Given the description of an element on the screen output the (x, y) to click on. 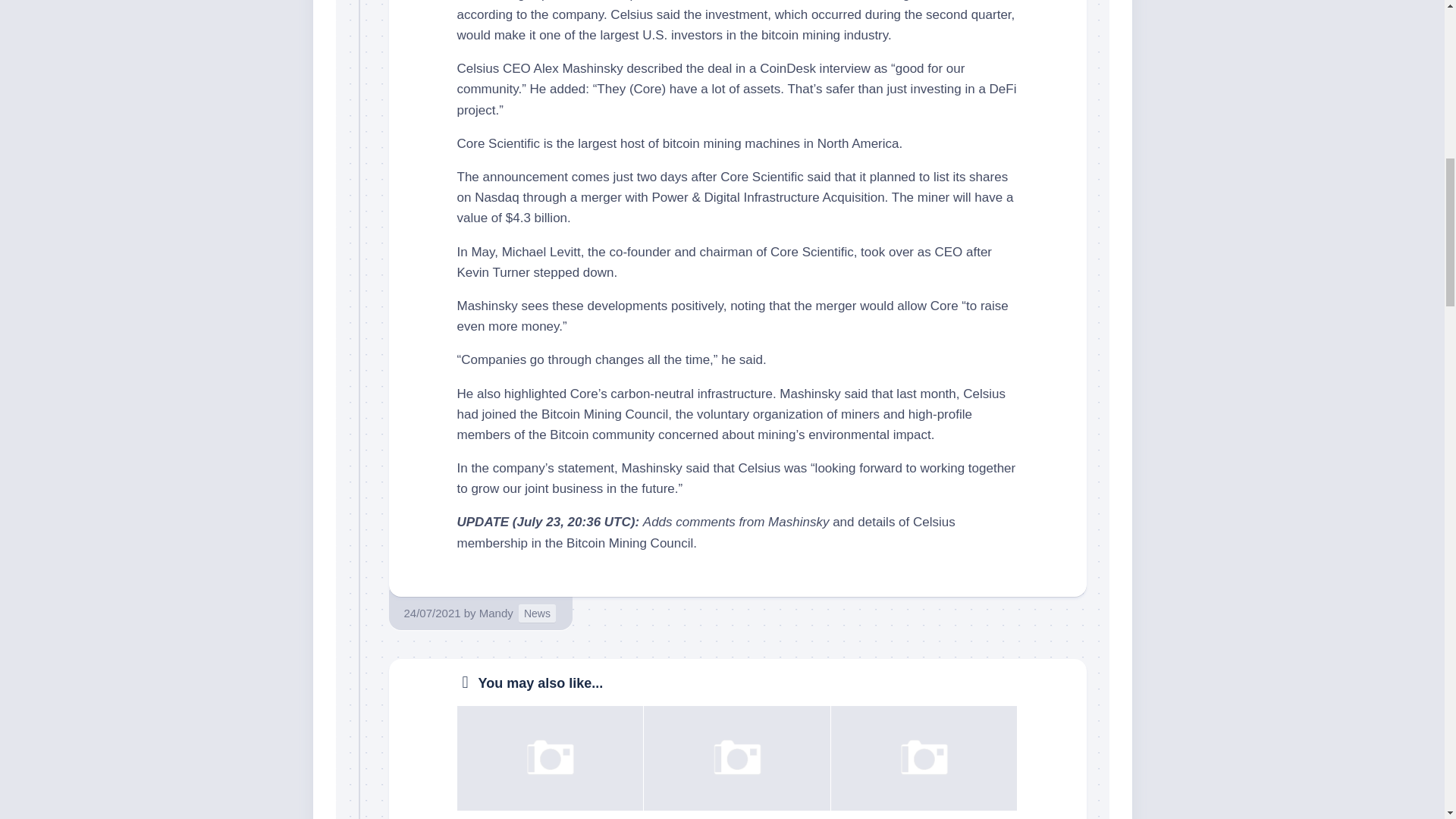
Posts by Mandy (496, 612)
Mandy (496, 612)
News (537, 613)
